Given the description of an element on the screen output the (x, y) to click on. 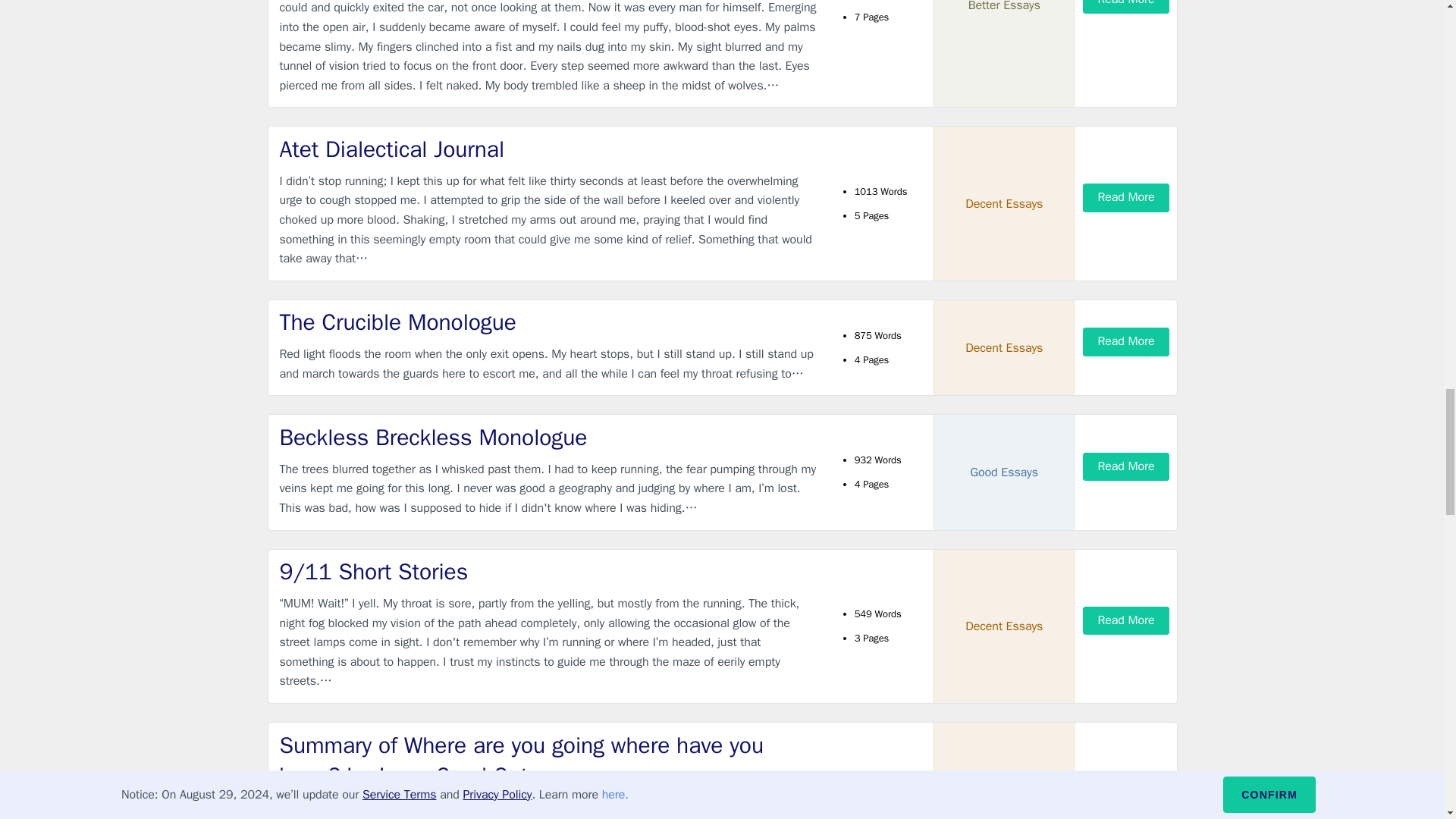
Atet Dialectical Journal (548, 149)
Read More (1126, 197)
The Crucible Monologue (548, 322)
Read More (1126, 466)
Read More (1126, 6)
Read More (1126, 620)
Beckless Breckless Monologue (548, 437)
Read More (1126, 341)
